Given the description of an element on the screen output the (x, y) to click on. 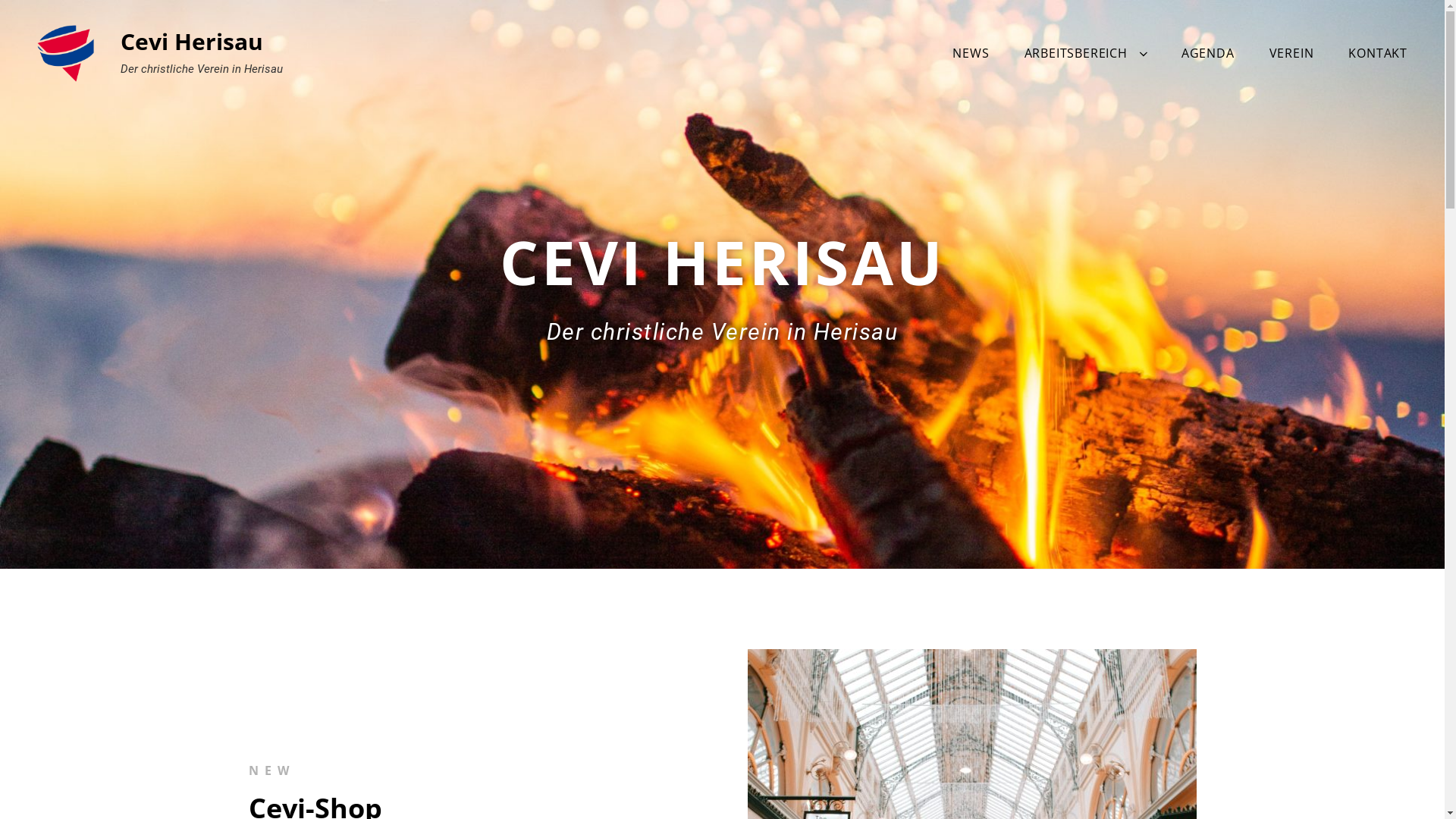
Cevi Herisau Element type: text (191, 40)
ARBEITSBEREICH Element type: text (1085, 53)
VEREIN Element type: text (1291, 53)
KONTAKT Element type: text (1377, 53)
NEWS Element type: text (970, 53)
AGENDA Element type: text (1207, 53)
